Given the description of an element on the screen output the (x, y) to click on. 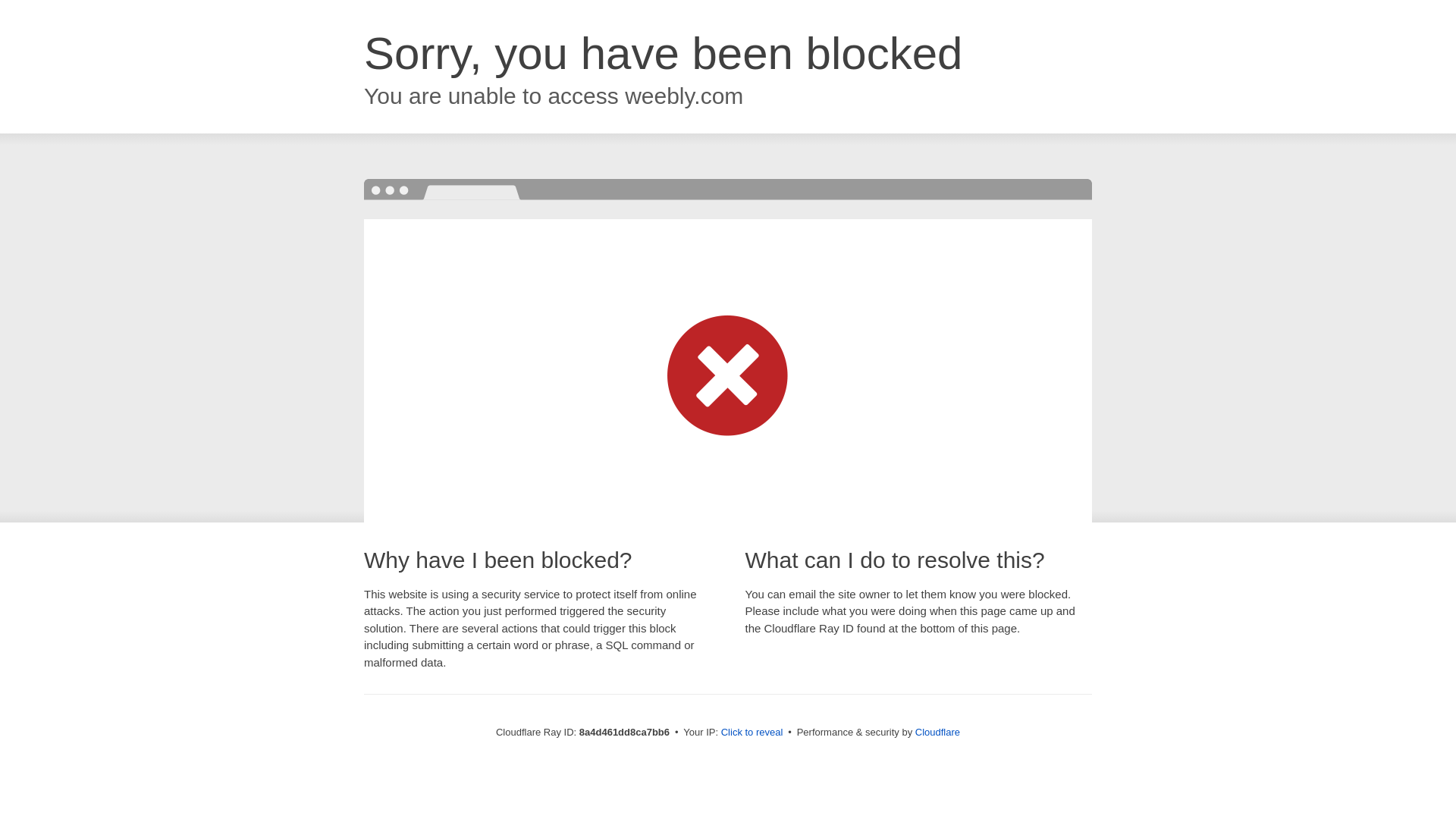
Click to reveal (751, 732)
Cloudflare (937, 731)
